Given the description of an element on the screen output the (x, y) to click on. 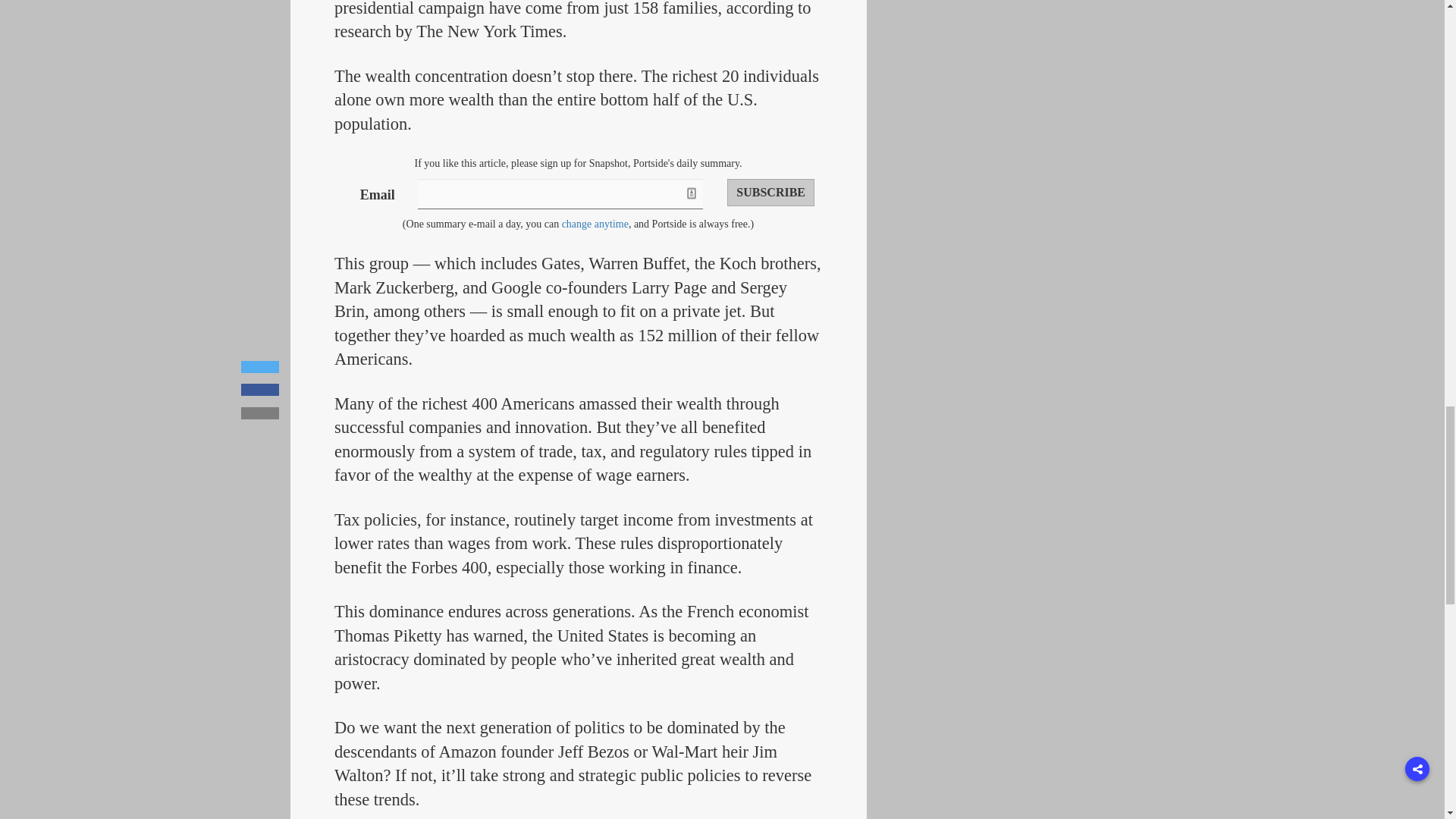
Subscribe (769, 192)
change anytime (595, 224)
Subscribe (769, 192)
